Given the description of an element on the screen output the (x, y) to click on. 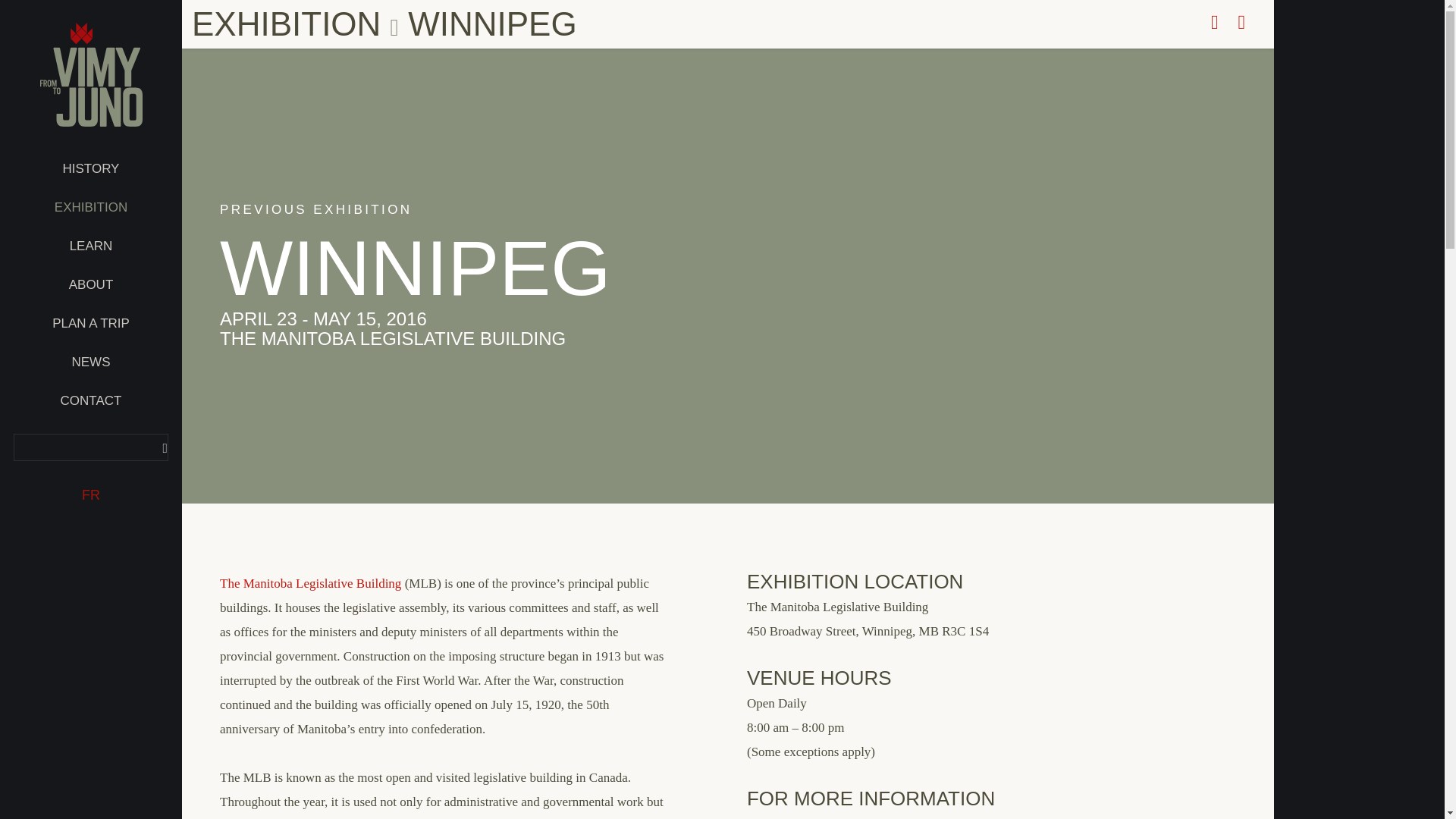
ABOUT (91, 284)
EXHIBITION (91, 207)
LEARN (91, 245)
NEWS (91, 362)
PLAN A TRIP (91, 323)
The Manitoba Legislative Building (310, 583)
CONTACT (91, 400)
The Manitoba Legislative Building (1060, 817)
HISTORY (91, 168)
FR (91, 495)
WINNIPEG (415, 268)
